Given the description of an element on the screen output the (x, y) to click on. 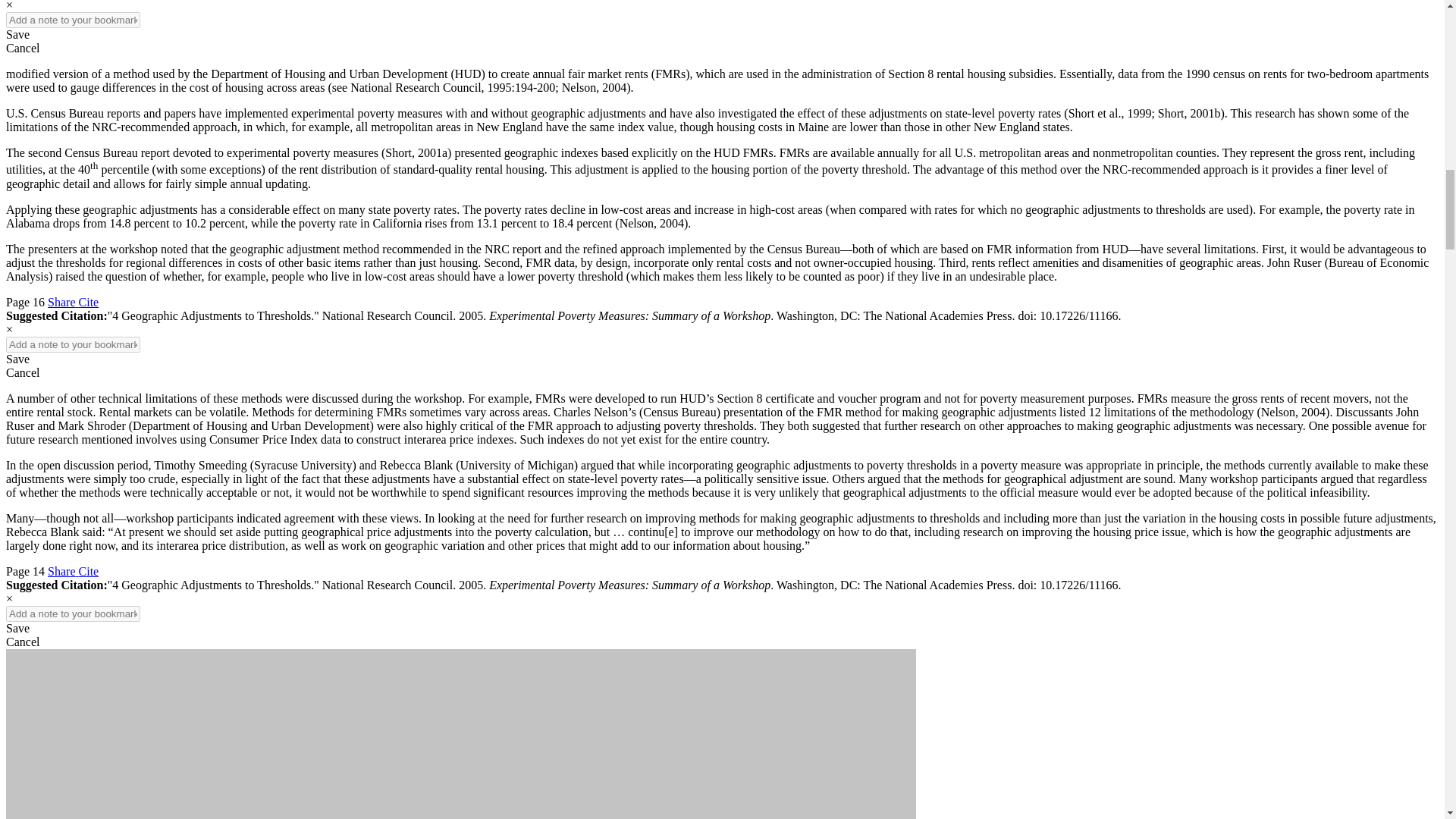
Share this page (63, 301)
Save (17, 627)
Cite (88, 571)
Share (63, 571)
Cancel (22, 372)
Save (17, 33)
Cite this page (88, 571)
Share this page (63, 571)
Save (17, 358)
Share (63, 301)
Cancel (22, 47)
Cite this page (88, 301)
Cite (88, 301)
